Given the description of an element on the screen output the (x, y) to click on. 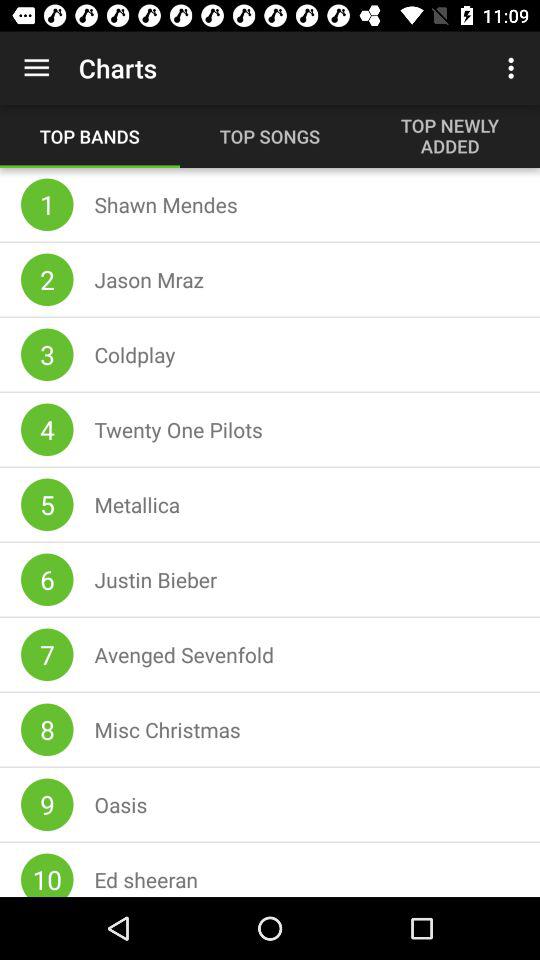
turn off item to the left of the misc christmas item (47, 729)
